Given the description of an element on the screen output the (x, y) to click on. 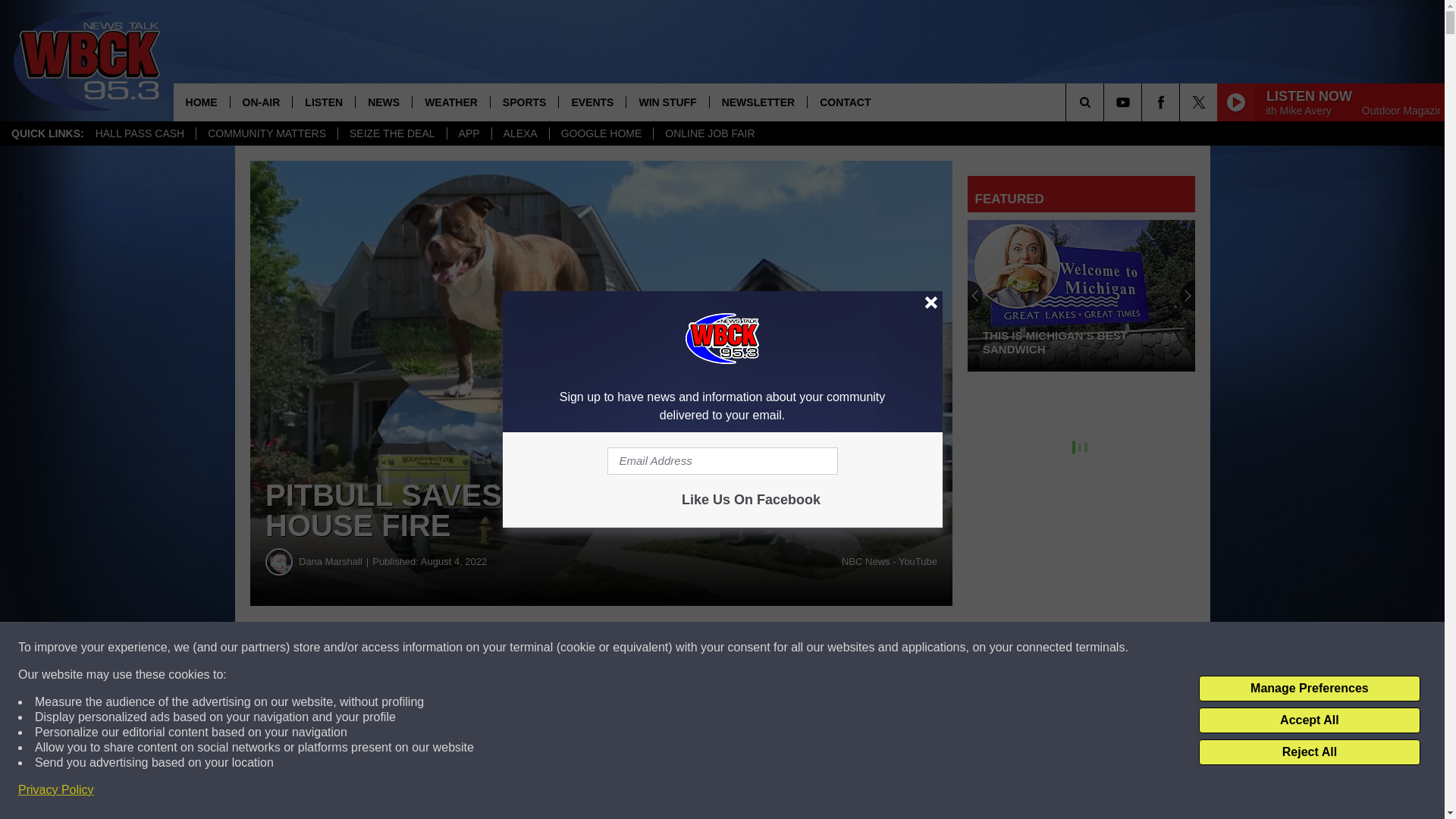
COMMUNITY MATTERS (266, 133)
GOOGLE HOME (600, 133)
ONLINE JOB FAIR (708, 133)
Privacy Policy (55, 789)
Share on Twitter (741, 647)
Email Address (722, 461)
Manage Preferences (1309, 688)
SEARCH (1106, 102)
ON-AIR (261, 102)
NEWS (383, 102)
Accept All (1309, 720)
SEIZE THE DEAL (391, 133)
HALL PASS CASH (140, 133)
APP (469, 133)
WEATHER (450, 102)
